Given the description of an element on the screen output the (x, y) to click on. 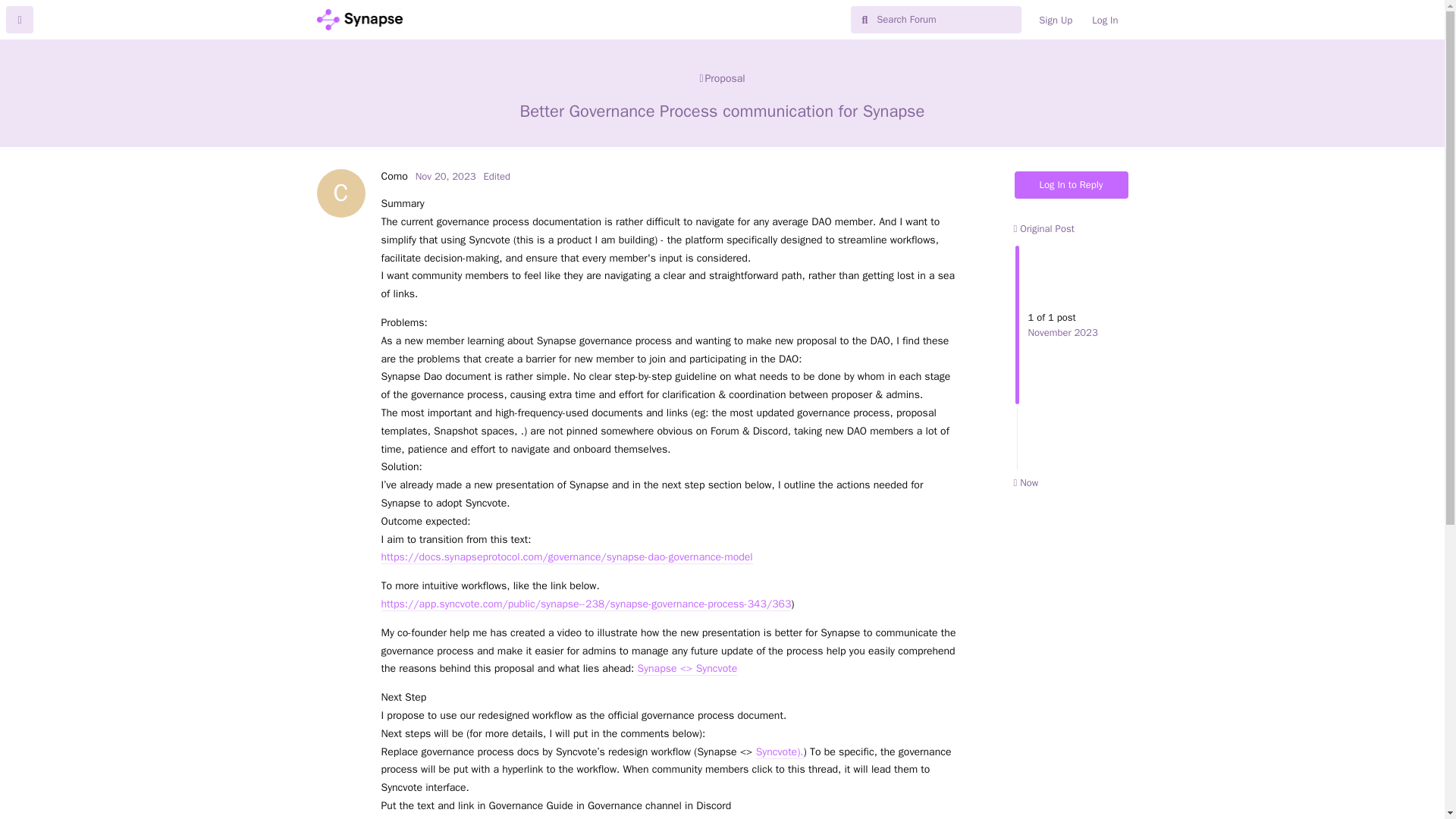
Now (1025, 481)
Sign Up (1055, 19)
Monday, November 20, 2023 2:22 PM (445, 175)
Log In (1103, 19)
Log In to Reply (1071, 185)
Proposal (721, 78)
Nov 20, 2023 (393, 175)
Original Post (445, 175)
